Given the description of an element on the screen output the (x, y) to click on. 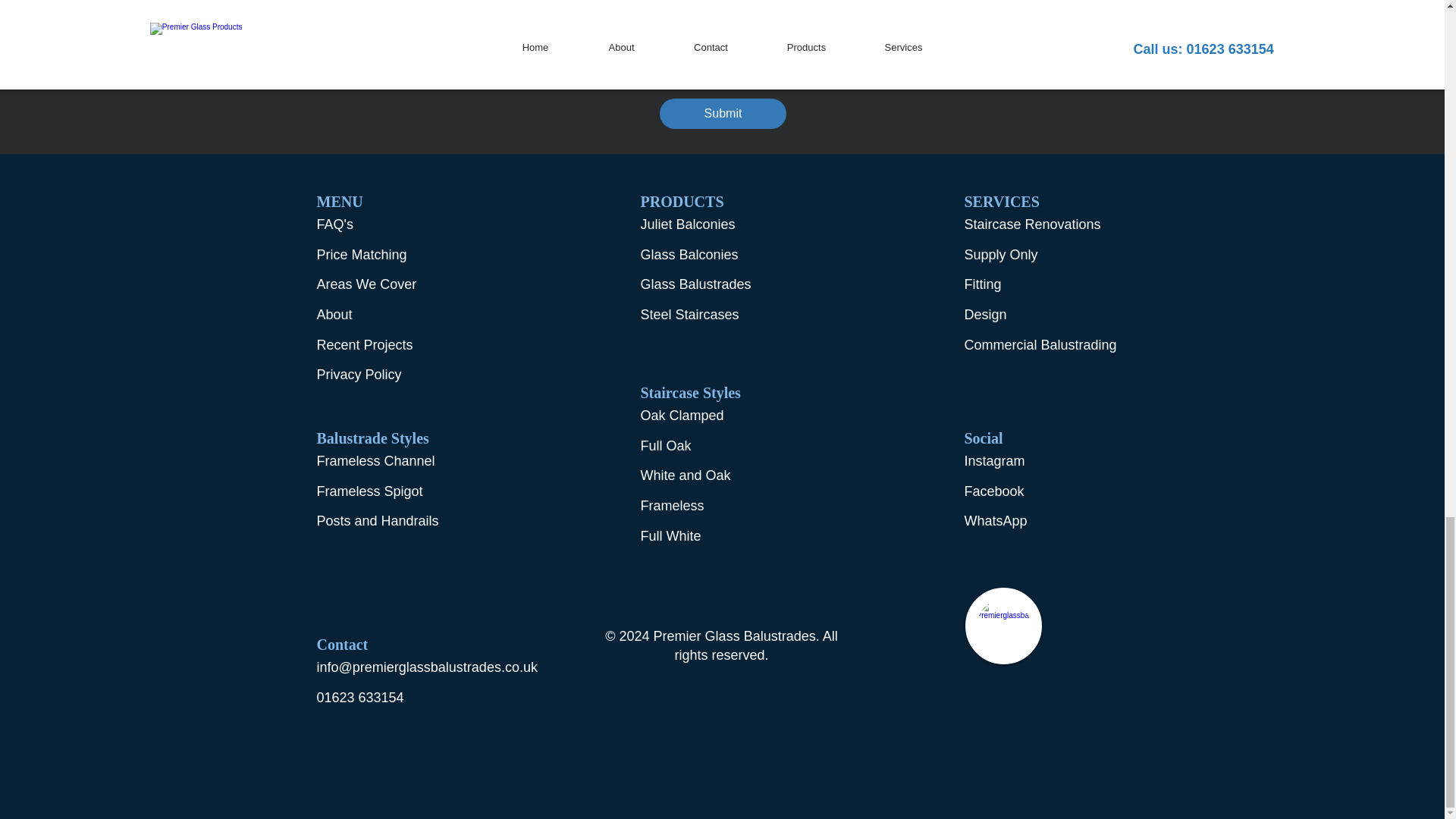
Submit (722, 113)
Price Matching (362, 254)
Premierglassbalustrades (1002, 626)
About (334, 314)
FAQ's (335, 224)
Areas We Cover (366, 283)
